Given the description of an element on the screen output the (x, y) to click on. 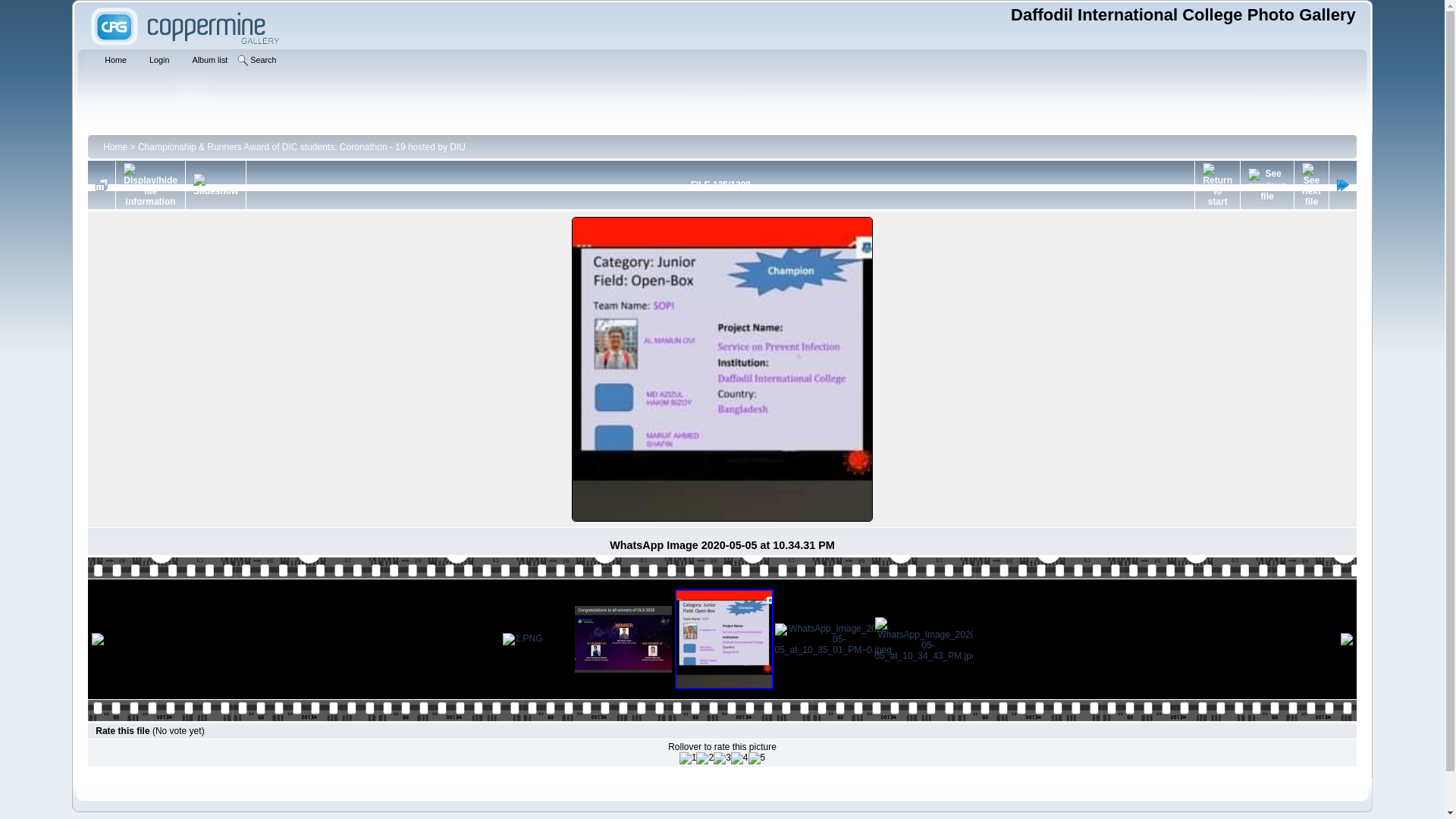
3 Element type: hover (722, 758)
Return to start Element type: hover (1217, 184)
Album list Element type: text (204, 61)
Home Element type: text (110, 61)
Return to the thumbnail page Element type: hover (101, 184)
Search Element type: text (258, 61)
Home Element type: text (115, 146)
5 Element type: hover (756, 758)
4 Element type: hover (739, 758)
1 Element type: hover (687, 758)
See previous file Element type: hover (1266, 184)
See next file Element type: hover (1311, 184)
Skip to end Element type: hover (1342, 184)
Login Element type: text (154, 61)
2 Element type: hover (704, 758)
Display/hide file information Element type: hover (150, 184)
Slideshow Element type: hover (215, 184)
